Given the description of an element on the screen output the (x, y) to click on. 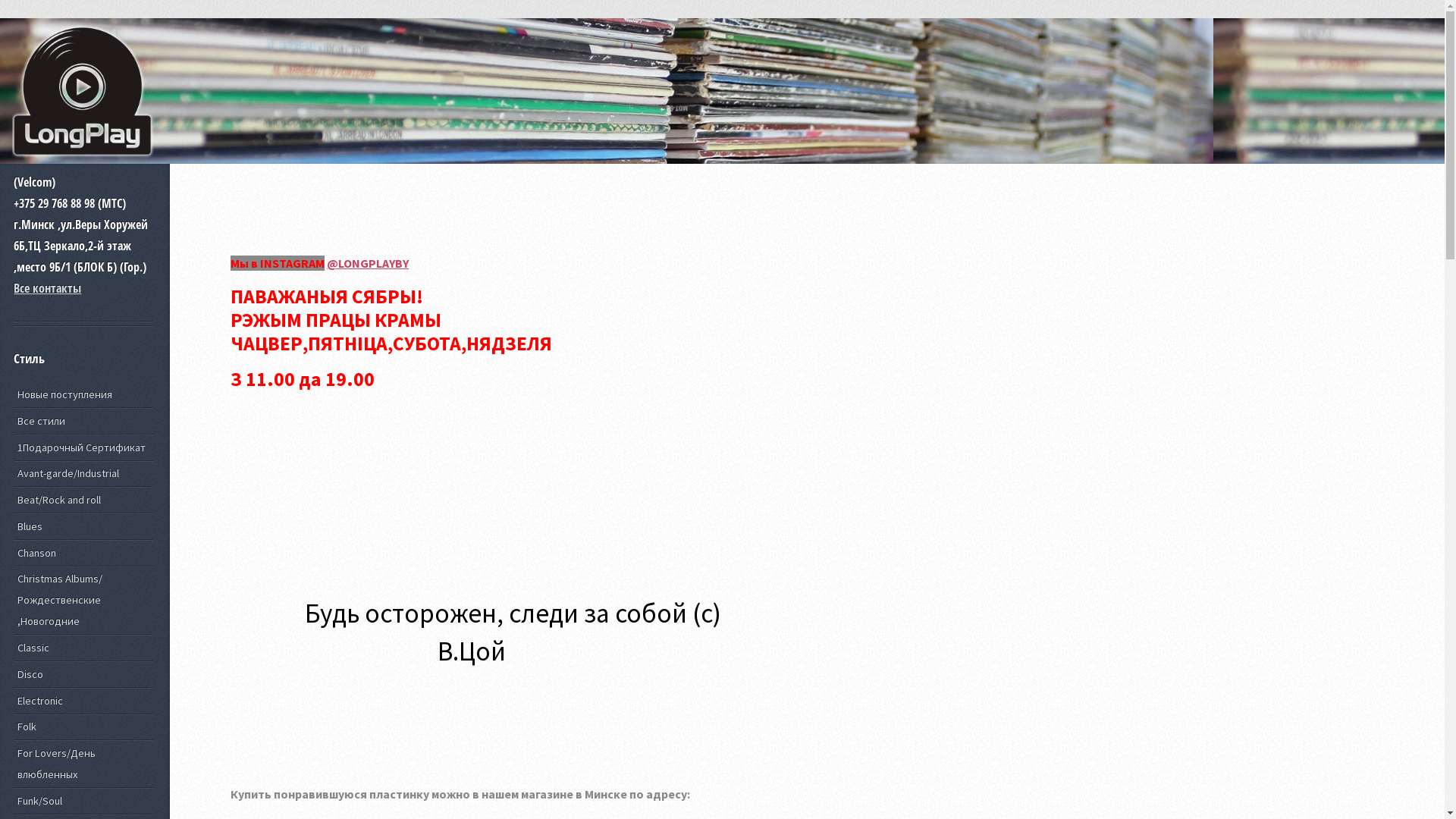
Electronic Element type: text (83, 700)
Beat/Rock and roll Element type: text (83, 499)
Folk Element type: text (83, 726)
@LONGPLAYBY Element type: text (367, 262)
Funk/Soul Element type: text (83, 800)
Blues Element type: text (83, 526)
Disco Element type: text (83, 674)
Classic Element type: text (83, 647)
Avant-garde/Industrial Element type: text (83, 473)
Chanson Element type: text (83, 552)
